Given the description of an element on the screen output the (x, y) to click on. 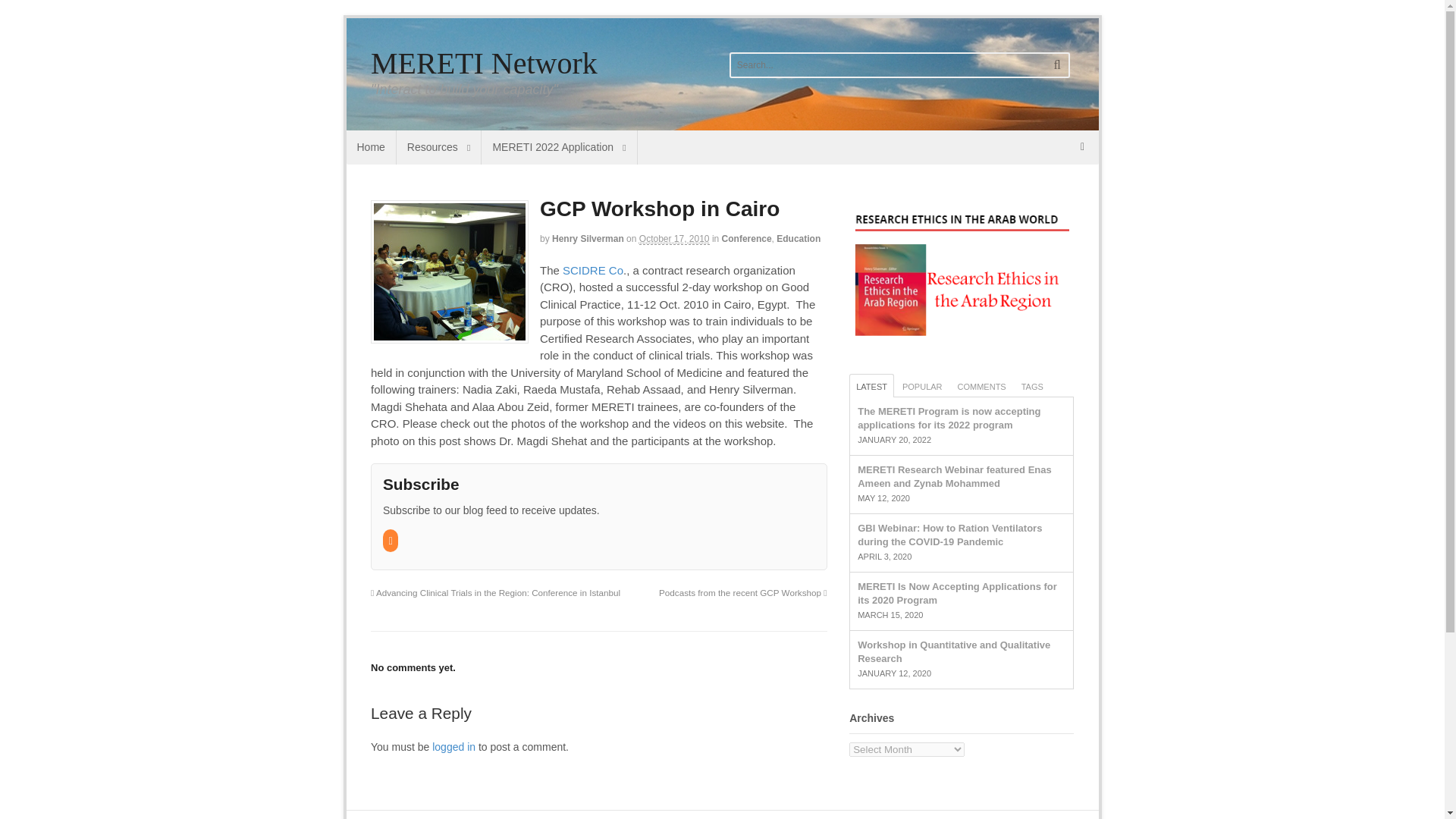
Home (370, 147)
Workshop in Quantitative and Qualitative Research (953, 651)
LATEST (870, 385)
Search (1057, 64)
View all items in Conference (746, 238)
MERETI 2022 Application (558, 147)
Podcasts from the recent GCP Workshop (743, 592)
COMMENTS (981, 385)
Workshop in Quantitative and Qualitative Research (953, 651)
MERETI Is Now Accepting Applications for its 2020 Program (957, 593)
Search... (879, 65)
